Given the description of an element on the screen output the (x, y) to click on. 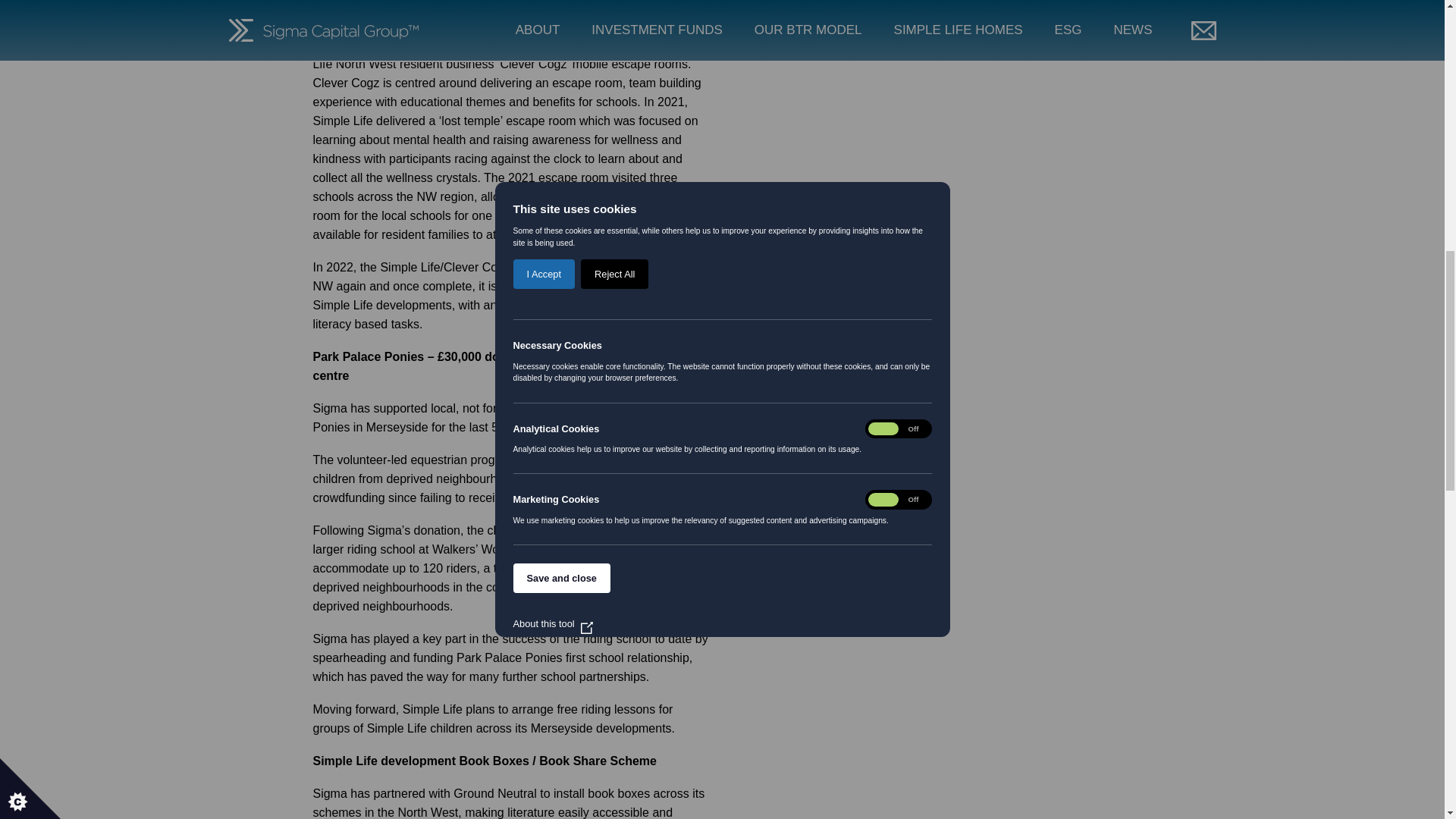
Save and close (561, 49)
I Accept (543, 16)
